Given the description of an element on the screen output the (x, y) to click on. 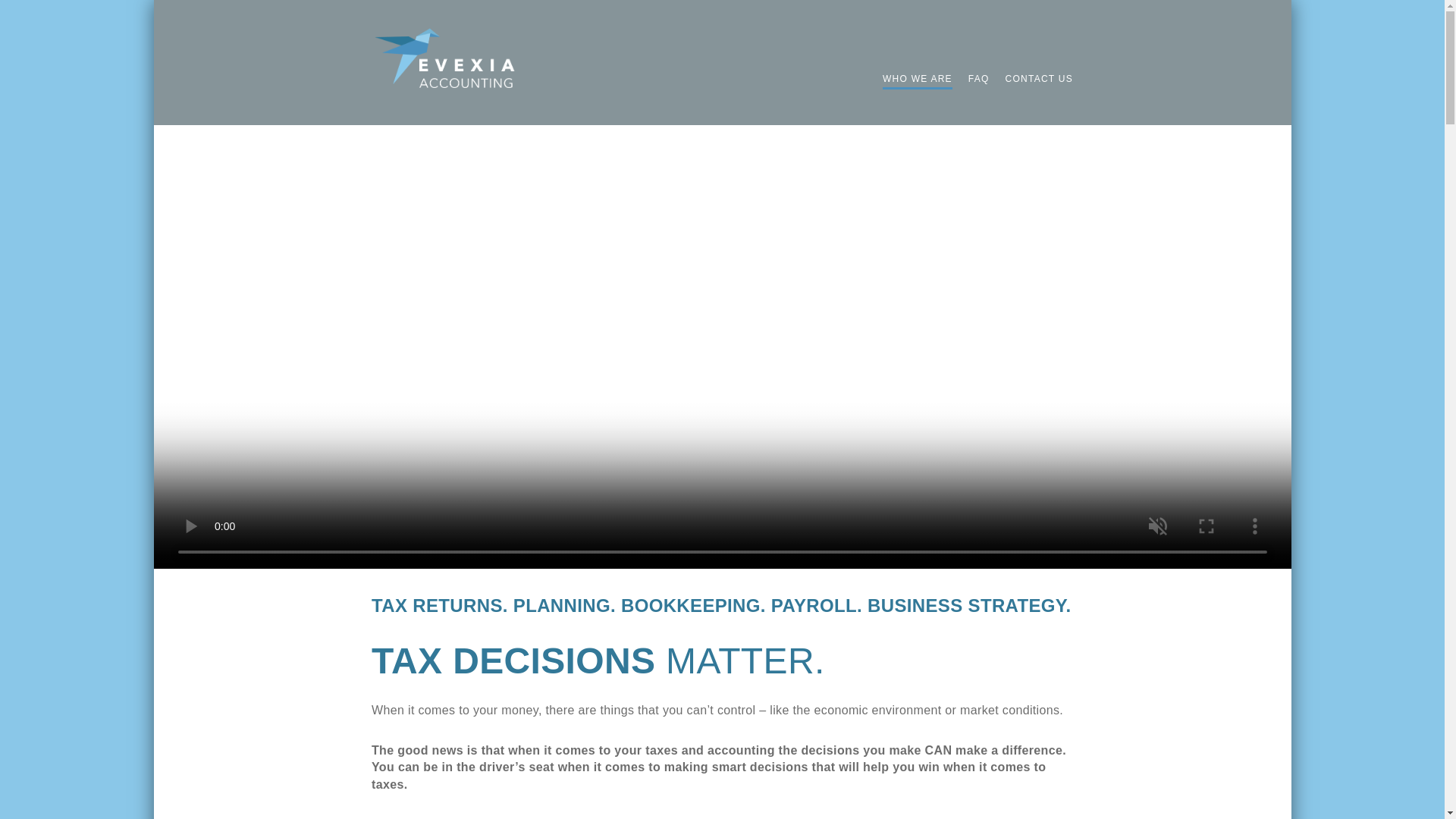
WHO WE ARE (917, 78)
FAQ (978, 78)
CONTACT US (1035, 78)
